Given the description of an element on the screen output the (x, y) to click on. 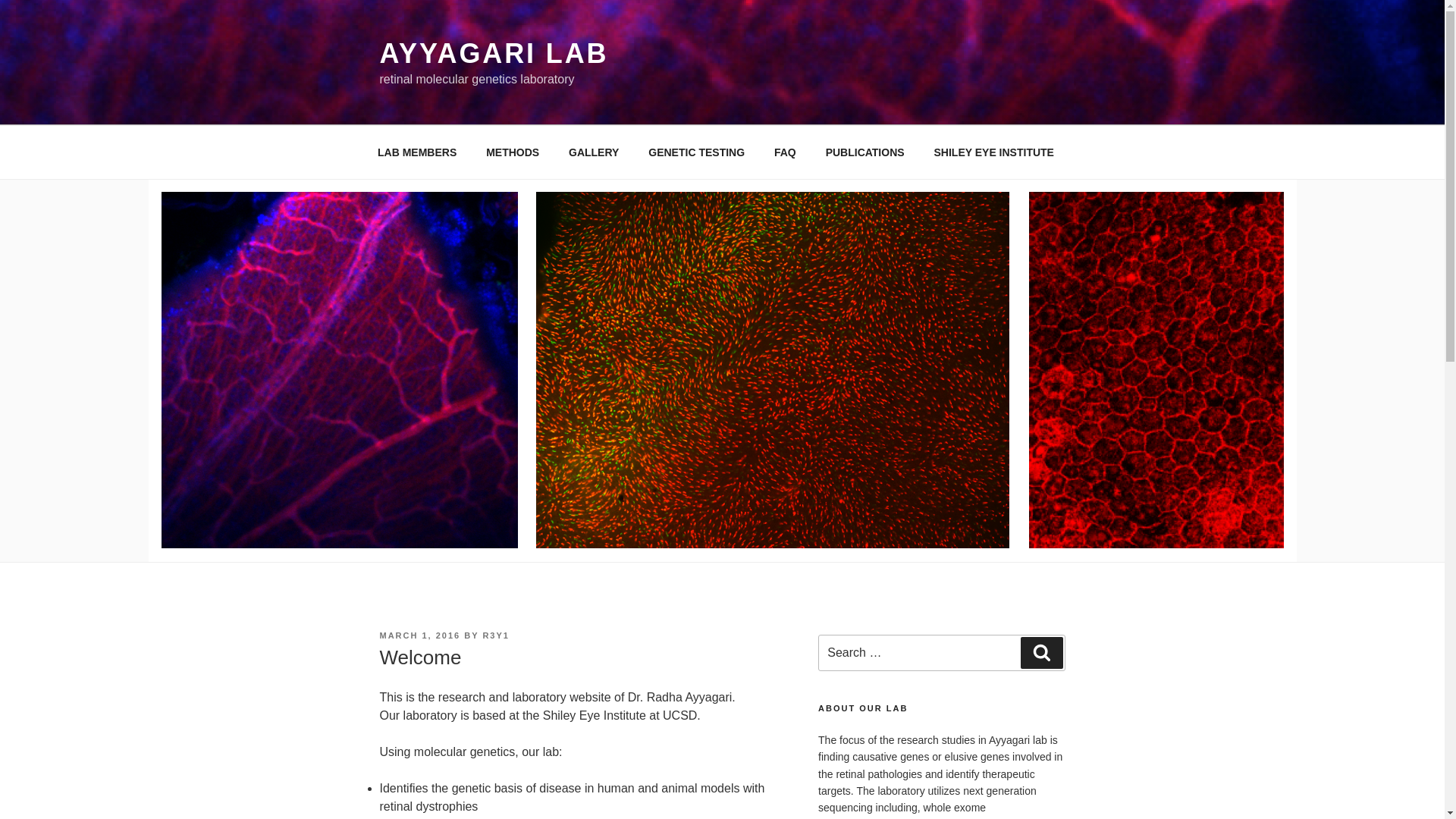
AYYAGARI LAB (493, 52)
Search (1041, 653)
MARCH 1, 2016 (419, 634)
GENETIC TESTING (696, 151)
FAQ (784, 151)
GALLERY (593, 151)
METHODS (513, 151)
R3Y1 (495, 634)
PUBLICATIONS (864, 151)
SHILEY EYE INSTITUTE (993, 151)
LAB MEMBERS (416, 151)
